Given the description of an element on the screen output the (x, y) to click on. 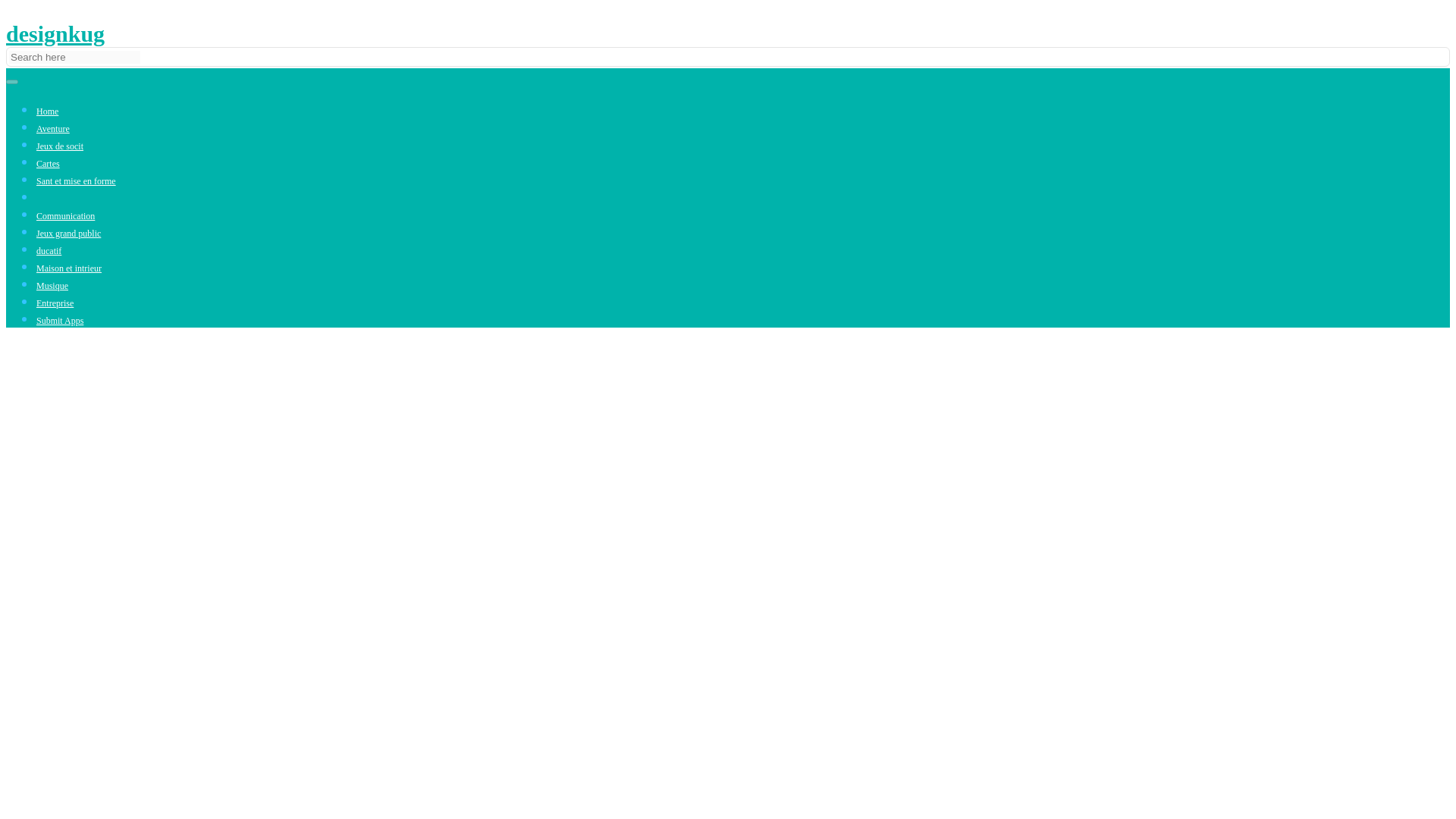
Home (47, 111)
designkug (54, 33)
Entreprise (55, 303)
Sant et mise en forme (76, 181)
Communication (65, 215)
Maison et intrieur (68, 267)
Aventure (52, 128)
Jeux de socit (59, 145)
Cartes (47, 163)
Jeux grand public (68, 233)
